Given the description of an element on the screen output the (x, y) to click on. 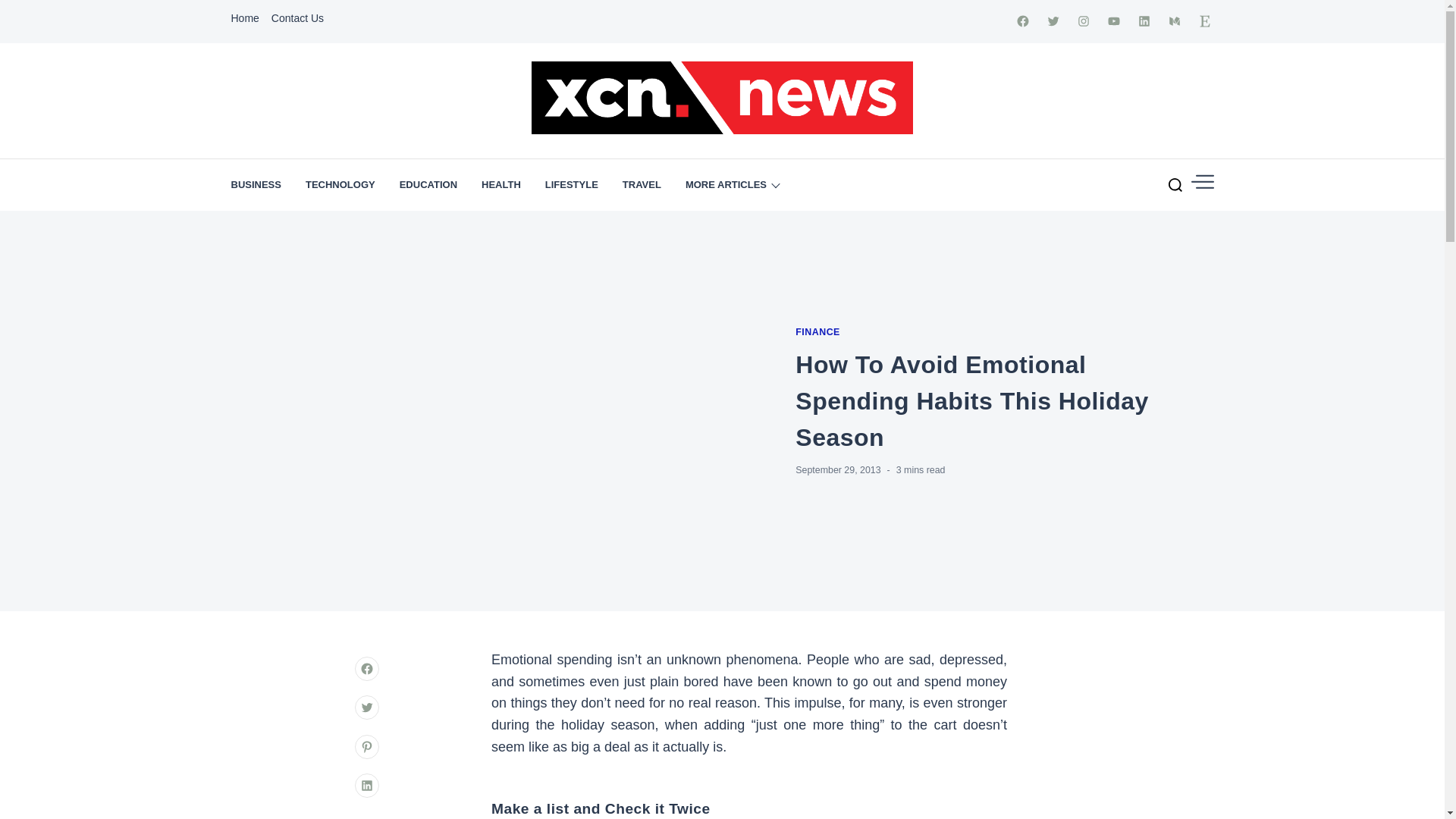
XCN News (637, 174)
TECHNOLOGY (340, 184)
Home (244, 18)
MORE ARTICLES (731, 184)
BUSINESS (255, 184)
Contact Us (296, 18)
EDUCATION (427, 184)
LIFESTYLE (571, 184)
